Given the description of an element on the screen output the (x, y) to click on. 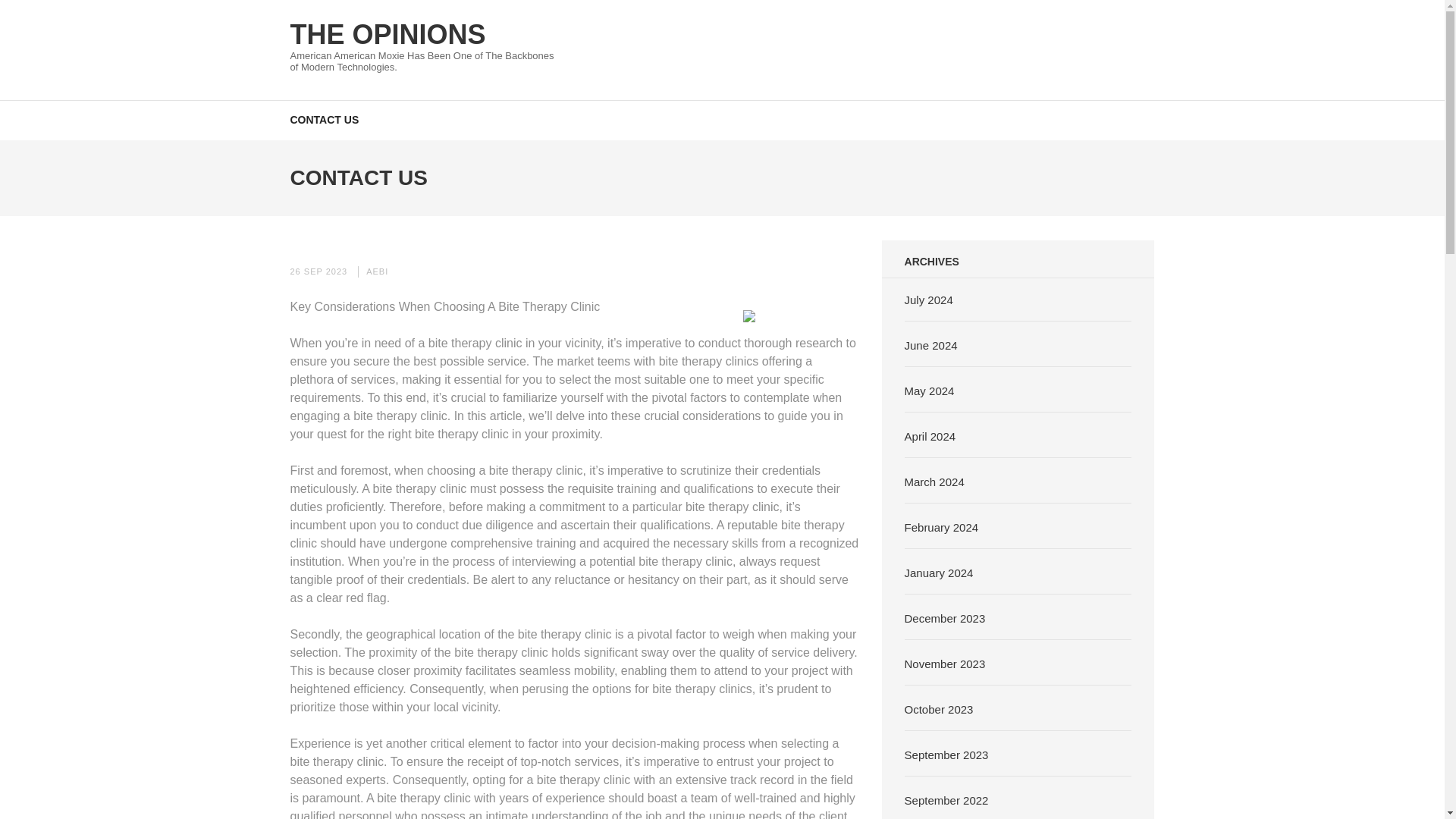
September 2023 (946, 753)
June 2024 (931, 344)
February 2024 (941, 526)
September 2022 (946, 799)
January 2024 (939, 571)
March 2024 (933, 481)
CONTACT US (323, 118)
April 2024 (930, 435)
AEBI (377, 271)
26 SEP 2023 (318, 271)
December 2023 (944, 617)
October 2023 (939, 707)
THE OPINIONS (386, 33)
November 2023 (944, 662)
July 2024 (928, 298)
